Given the description of an element on the screen output the (x, y) to click on. 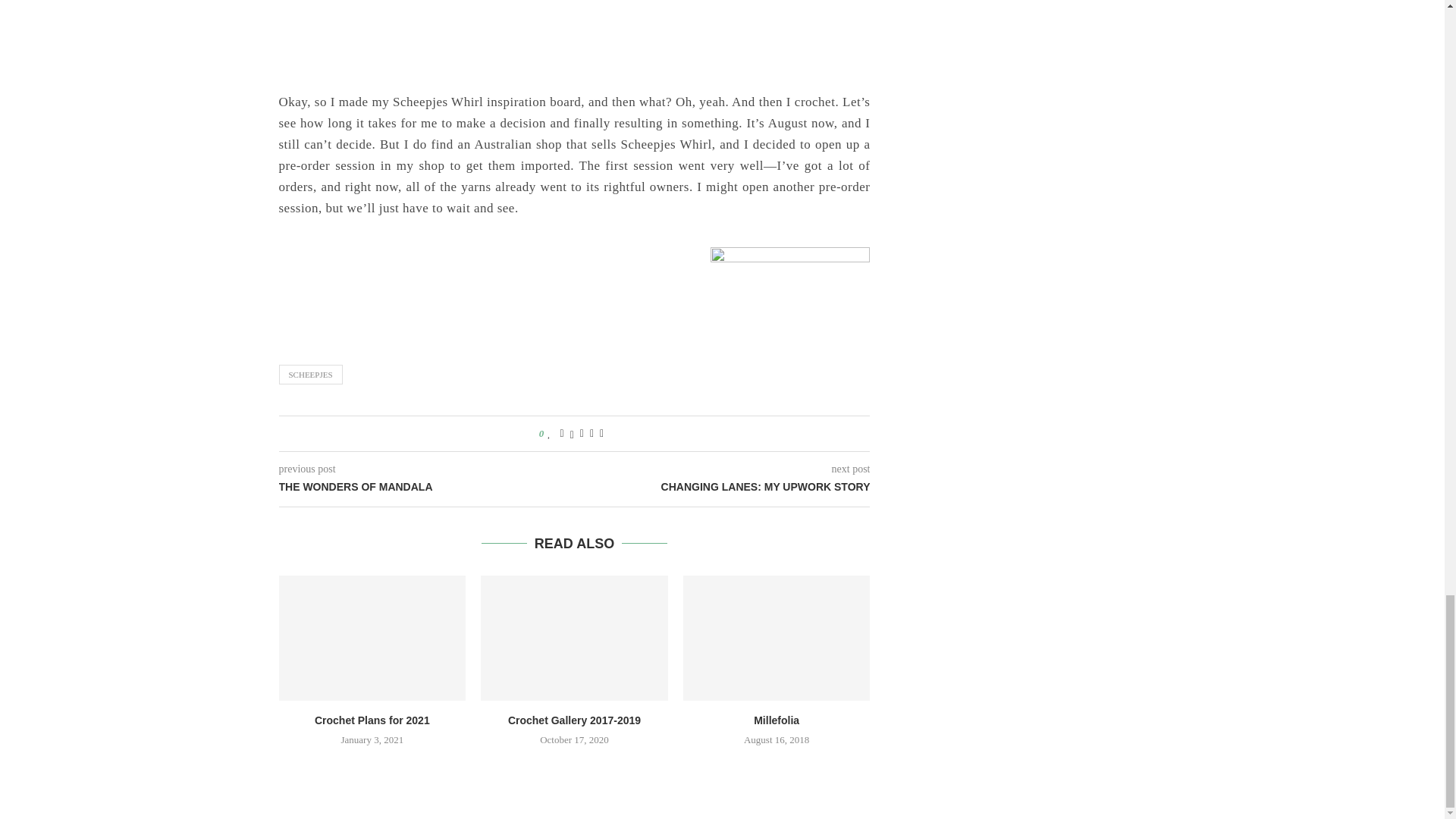
Crochet Gallery 2017-2019 (574, 637)
Crochet Plans for 2021 (372, 637)
Millefolia (776, 637)
SCHEEPJES (310, 374)
